Given the description of an element on the screen output the (x, y) to click on. 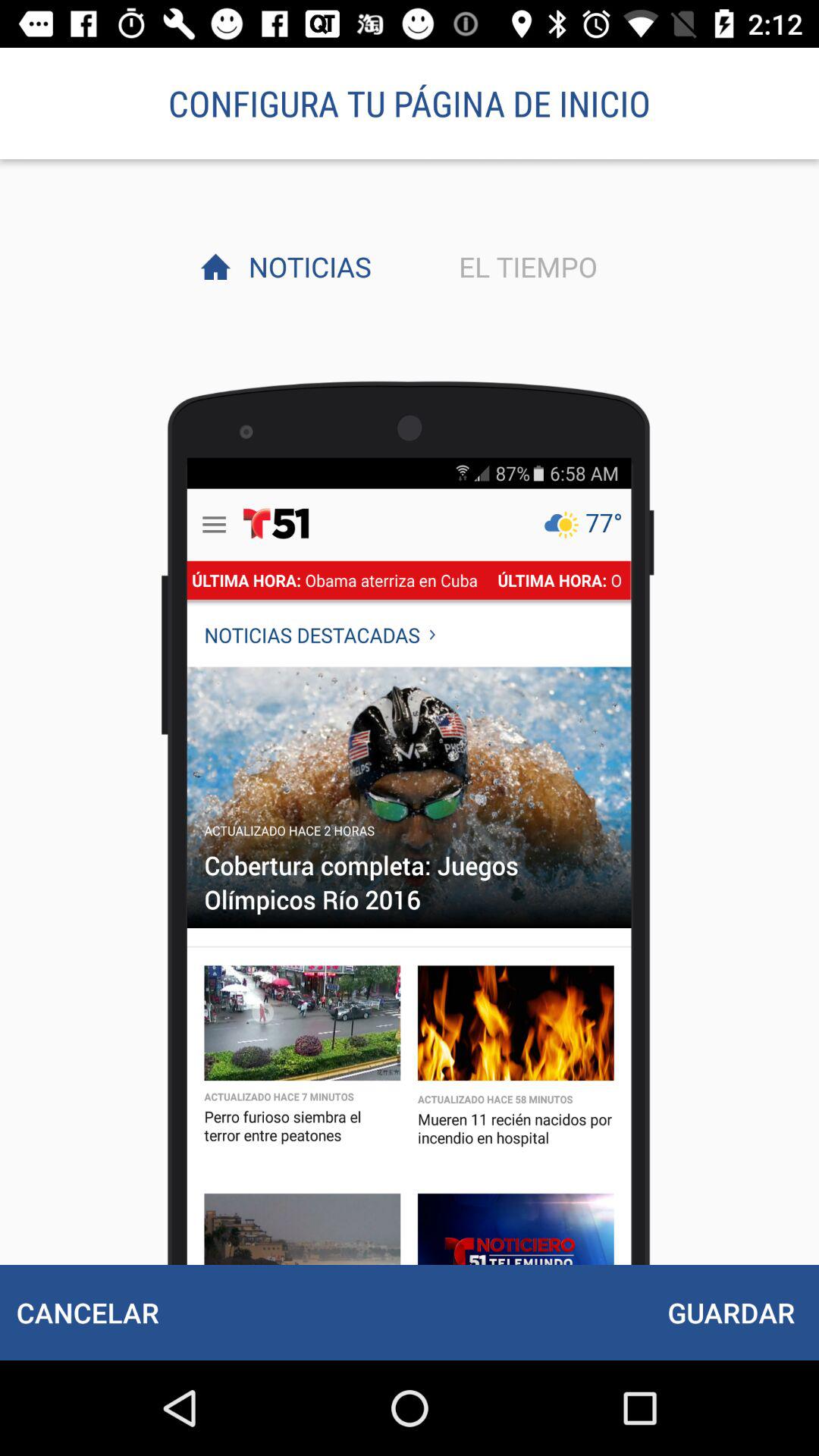
launch icon to the right of the cancelar (731, 1312)
